Given the description of an element on the screen output the (x, y) to click on. 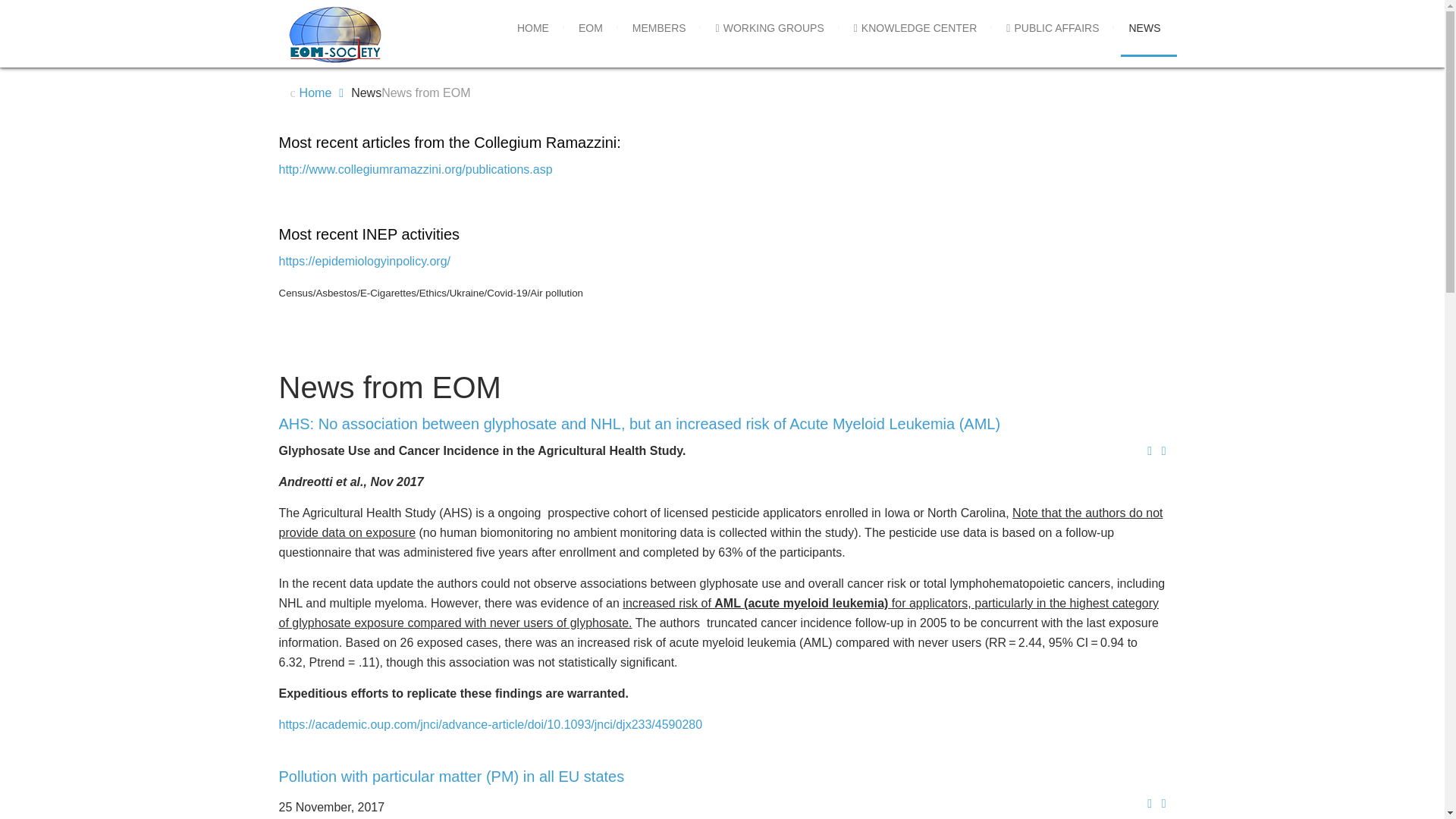
MEMBERS (659, 28)
open Website (416, 169)
WORKING GROUPS (769, 28)
HOME (532, 28)
PUBLIC AFFAIRS (1052, 28)
NEWS (1144, 28)
open Website (365, 260)
KNOWLEDGE CENTER (915, 28)
EOM (590, 28)
